Given the description of an element on the screen output the (x, y) to click on. 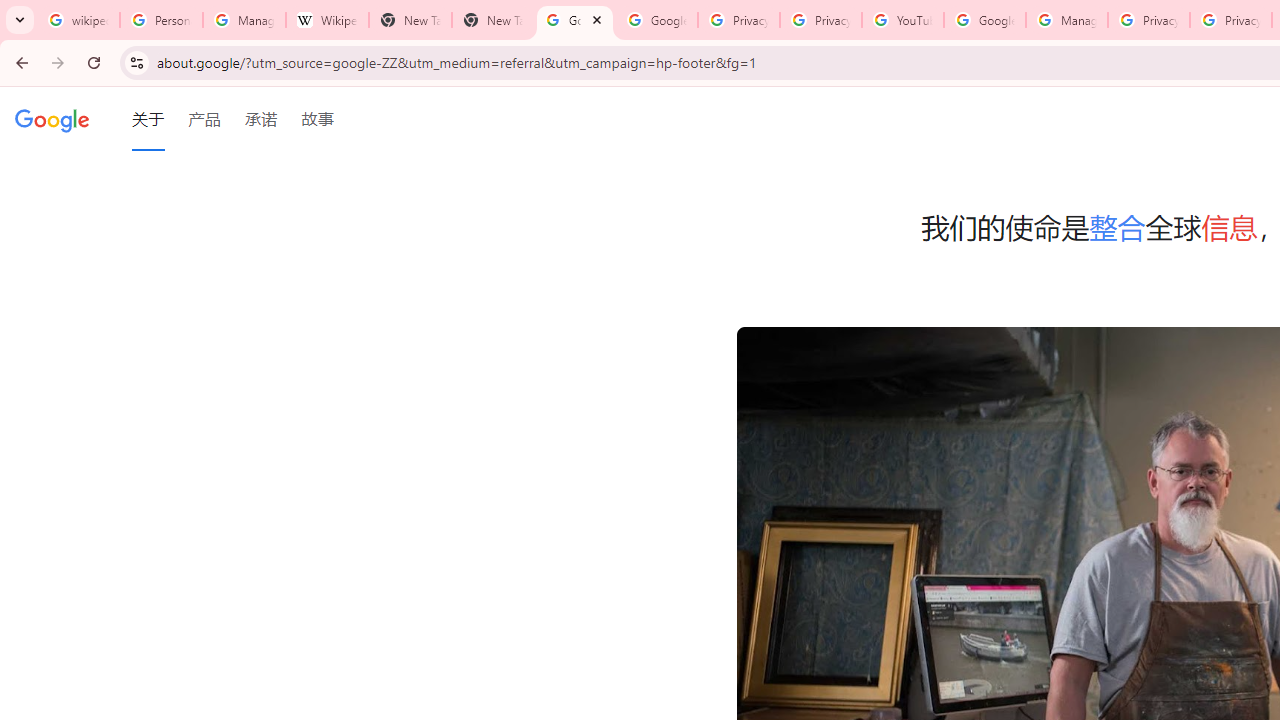
New Tab (492, 20)
System (10, 11)
Personalization & Google Search results - Google Search Help (161, 20)
Google (52, 119)
Manage your Location History - Google Search Help (244, 20)
Back (19, 62)
